Given the description of an element on the screen output the (x, y) to click on. 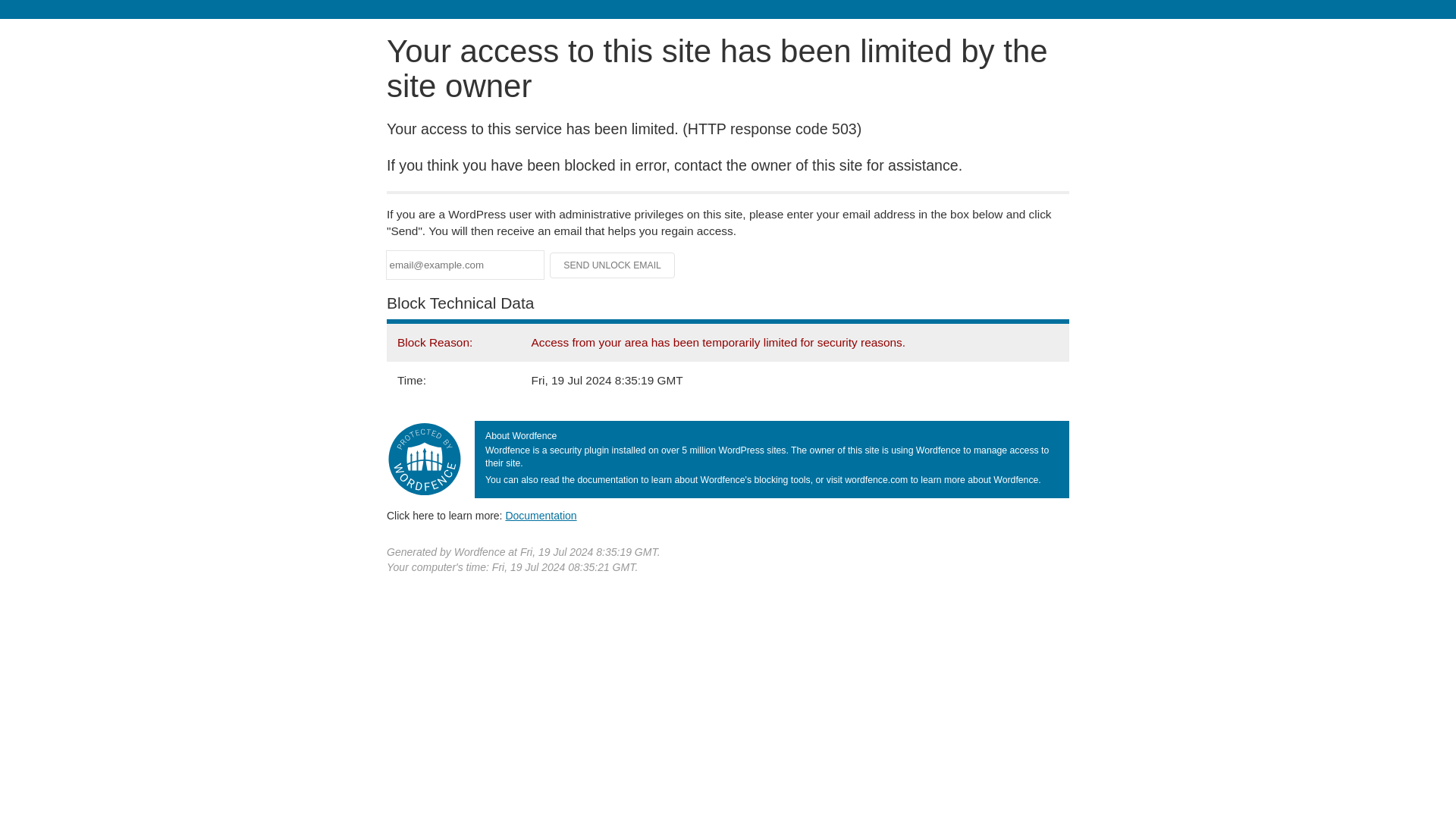
Send Unlock Email (612, 265)
Send Unlock Email (612, 265)
Documentation (540, 515)
